Given the description of an element on the screen output the (x, y) to click on. 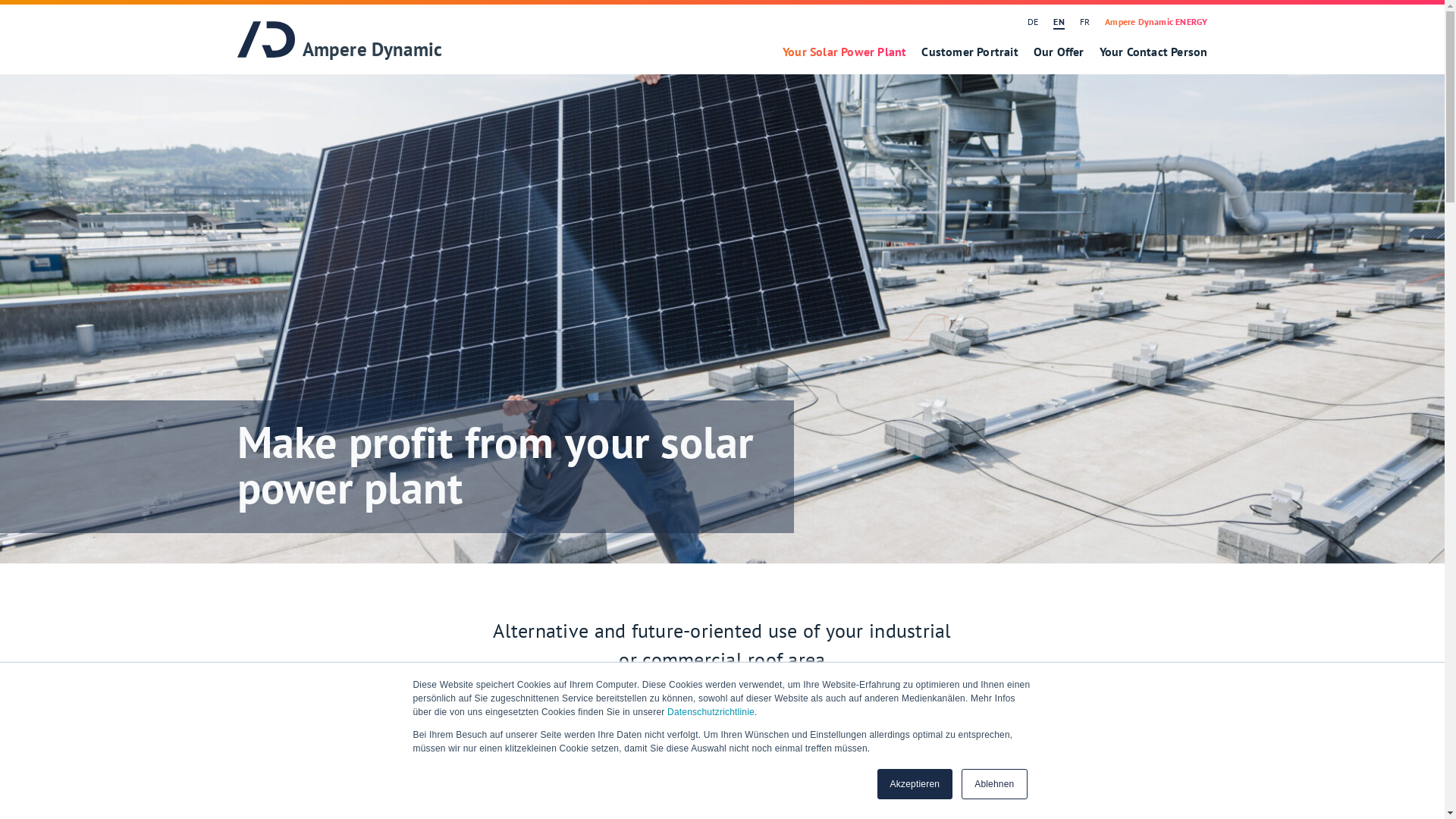
EN Element type: text (1058, 21)
Ablehnen Element type: text (993, 783)
Your Advantages Element type: text (641, 752)
Ampere Dynamic Element type: text (339, 40)
FR Element type: text (1084, 21)
DE Element type: text (1032, 21)
Project Process Element type: text (808, 752)
Datenschutzrichtlinie Element type: text (710, 711)
Akzeptieren Element type: text (915, 783)
Ampere Dynamic ENERGY Element type: text (1152, 21)
